Given the description of an element on the screen output the (x, y) to click on. 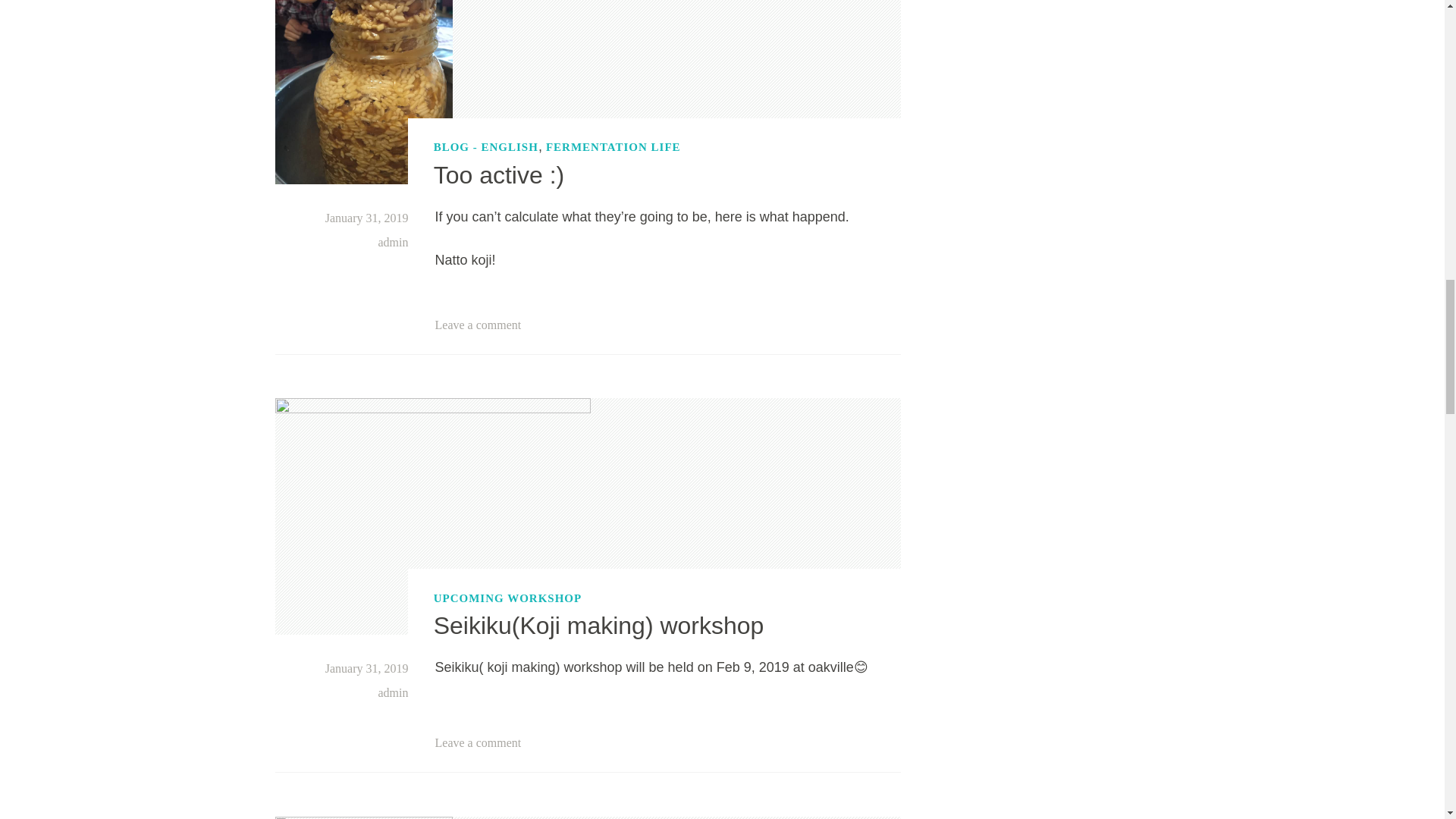
January 31, 2019 (366, 217)
Leave a comment (478, 324)
BLOG - ENGLISH (485, 147)
admin (392, 241)
FERMENTATION LIFE (613, 147)
